Given the description of an element on the screen output the (x, y) to click on. 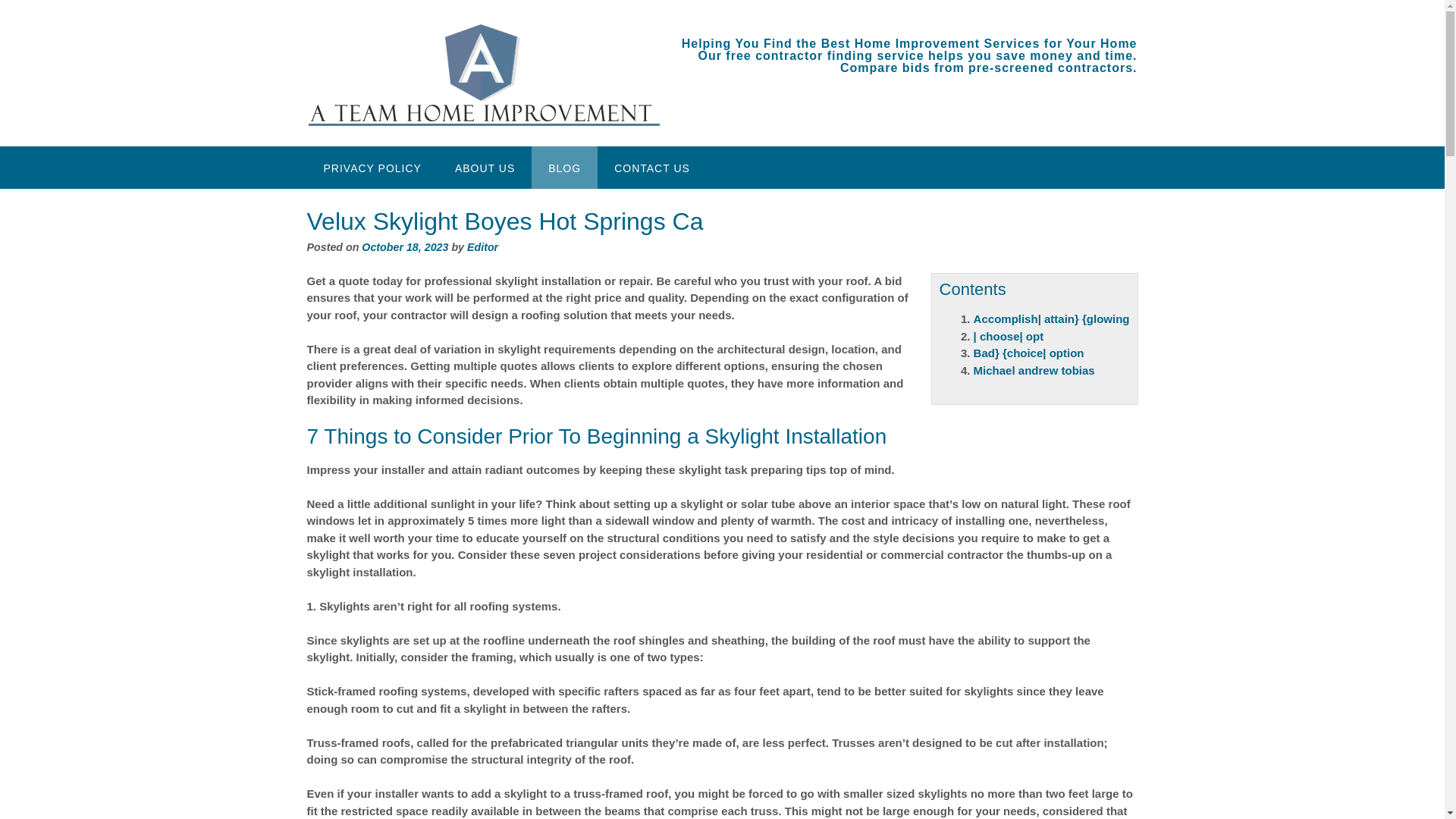
October 18, 2023 (404, 246)
CONTACT US (651, 167)
BLOG (563, 167)
Editor (482, 246)
PRIVACY POLICY (371, 167)
ABOUT US (484, 167)
Michael andrew tobias (1034, 369)
